Given the description of an element on the screen output the (x, y) to click on. 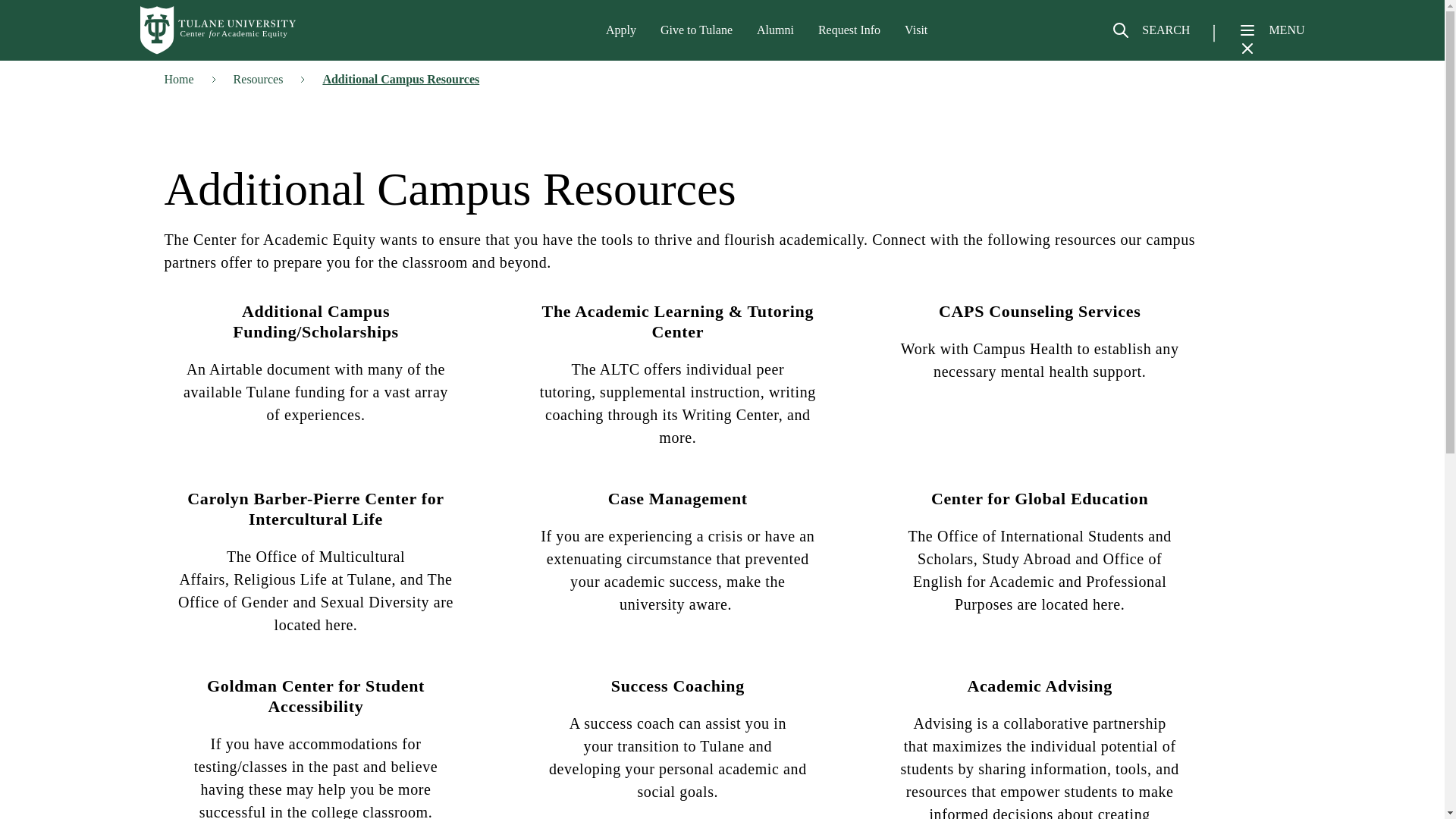
Request Info (849, 29)
Apply (620, 29)
Home (218, 29)
Visit (915, 29)
Give to Tulane (696, 29)
SEARCH (1150, 36)
Alumni (775, 29)
